Given the description of an element on the screen output the (x, y) to click on. 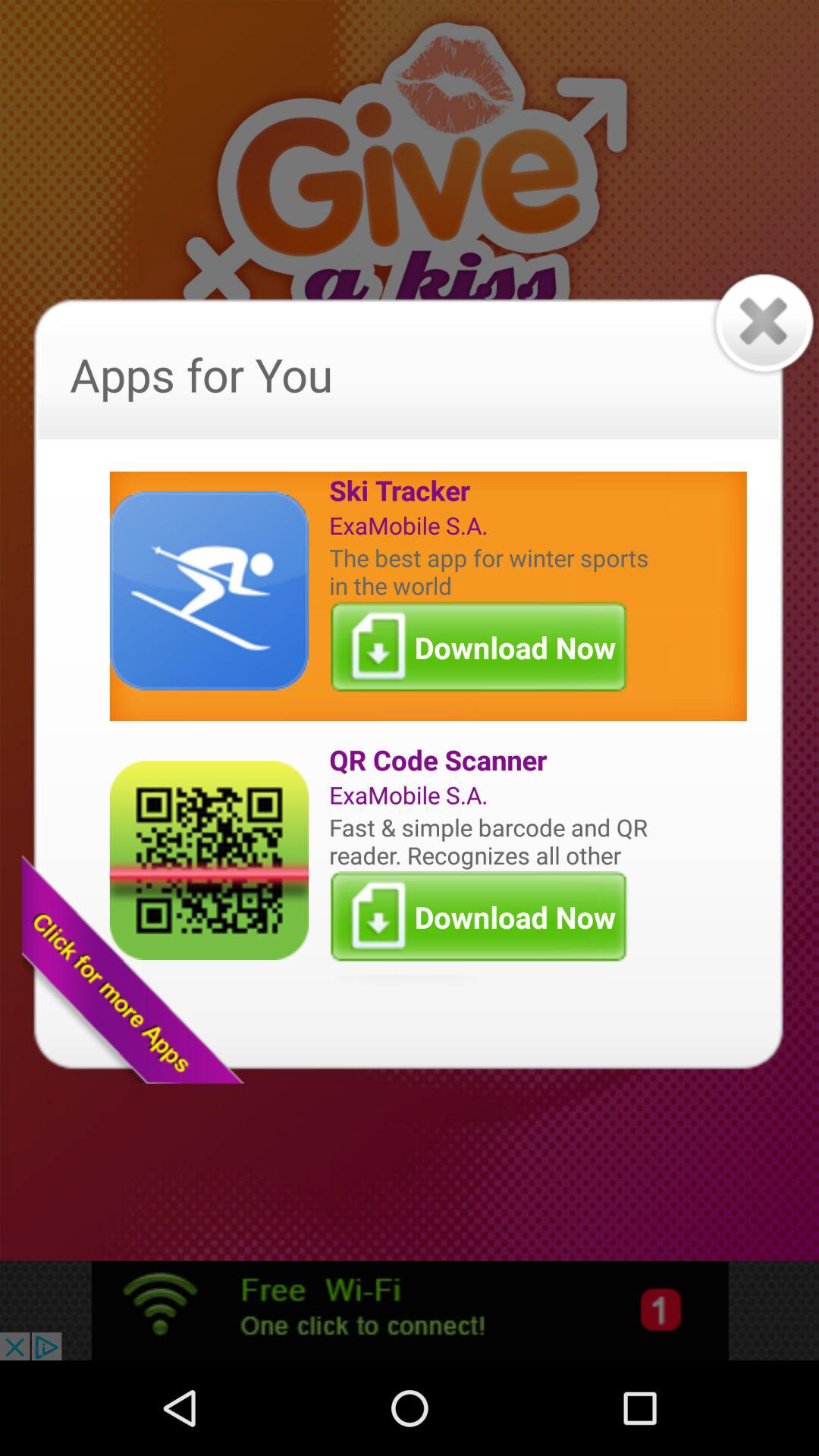
turn on the button below download now (492, 759)
